Given the description of an element on the screen output the (x, y) to click on. 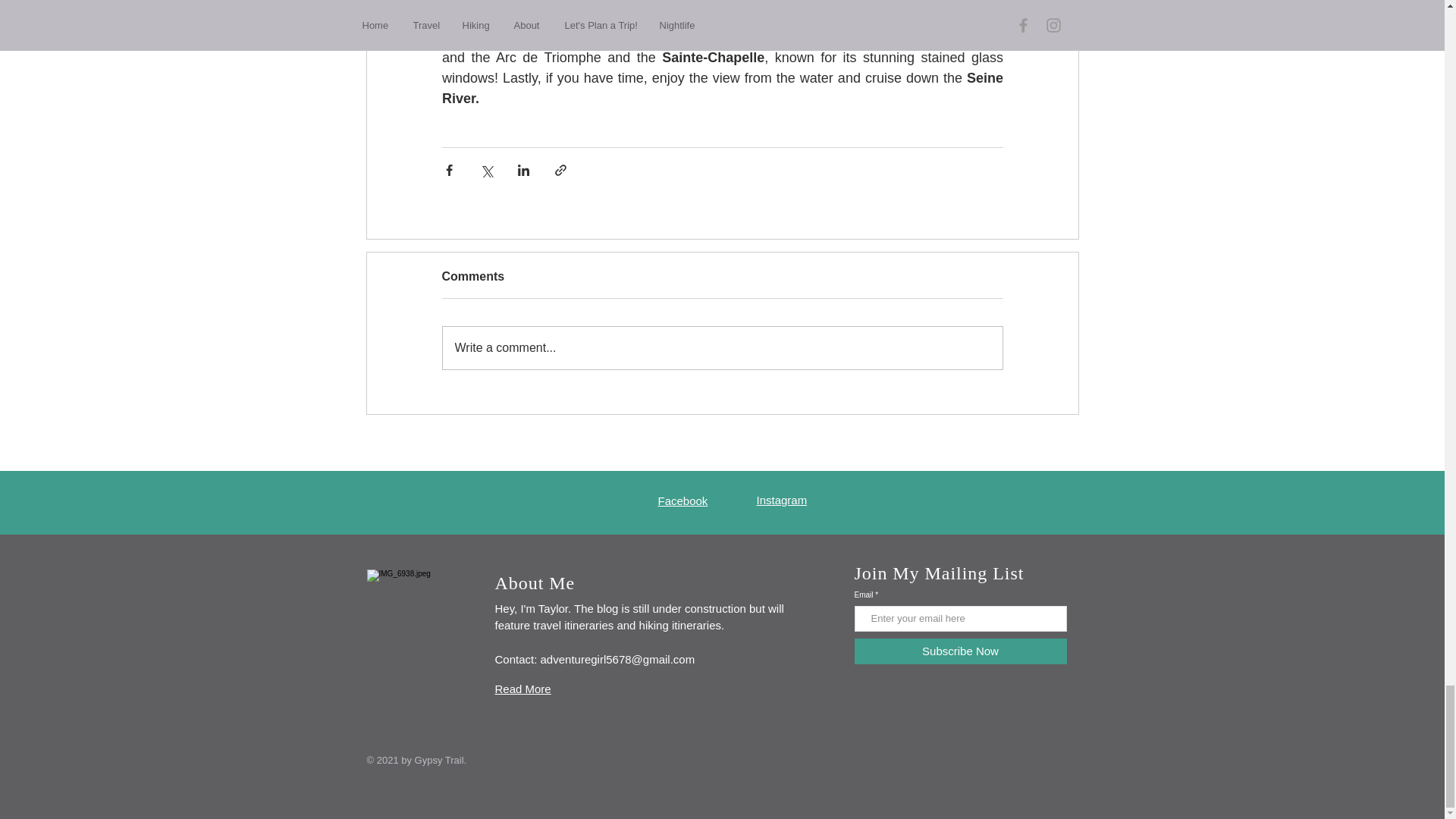
Subscribe Now (959, 651)
Facebook (682, 500)
Instagram (782, 499)
Read More (522, 688)
Write a comment... (722, 347)
